Given the description of an element on the screen output the (x, y) to click on. 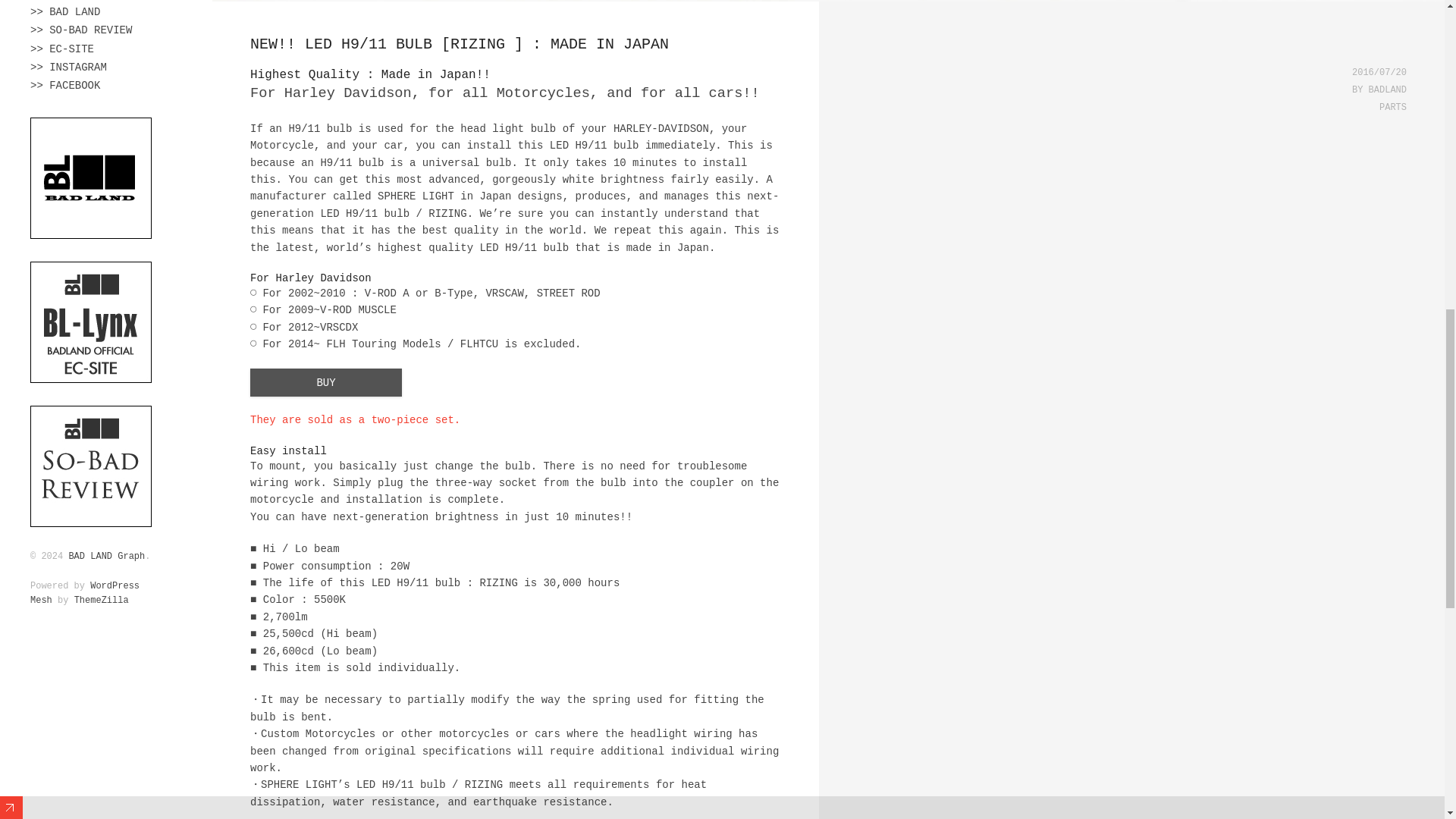
So-Bad Review (90, 517)
View all posts by BADLAND (1387, 90)
BADLAND (90, 229)
BAD LAND Graph (106, 556)
Mesh (41, 600)
ThemeZilla (101, 600)
11:02 AM (1379, 72)
BL-Lynx (90, 373)
WordPress (114, 585)
